Given the description of an element on the screen output the (x, y) to click on. 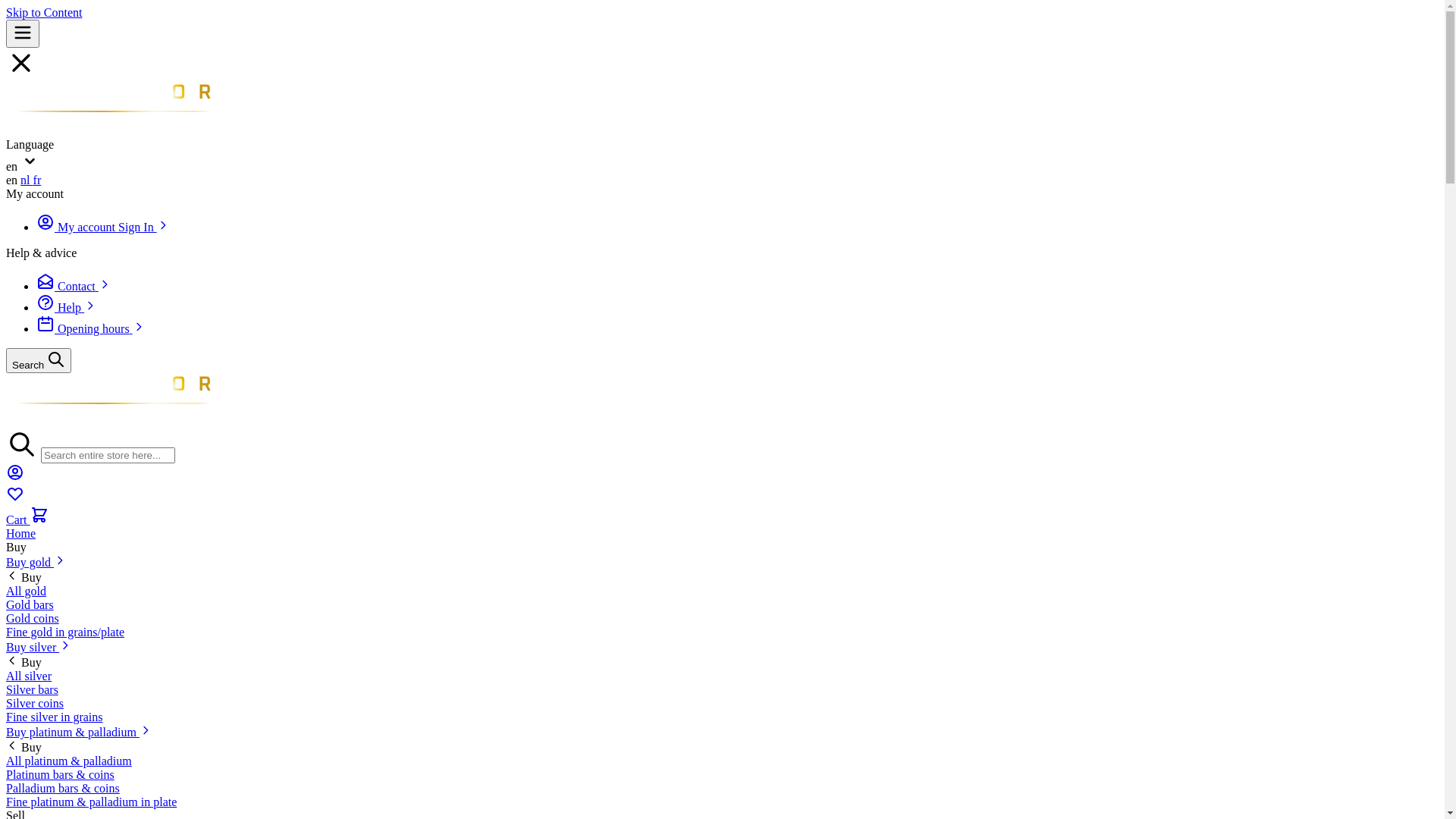
Home Element type: text (20, 533)
Platinum bars & coins Element type: text (60, 774)
Magento Commerce Element type: hover (112, 422)
All platinum & palladium Element type: text (68, 760)
fr Element type: text (37, 179)
Fine gold in grains/plate Element type: text (65, 631)
Palladium bars & coins Element type: text (62, 787)
Gold bars Element type: text (29, 604)
All gold Element type: text (26, 590)
Silver coins Element type: text (34, 702)
Buy platinum & palladium Element type: text (78, 731)
Contact Element type: text (73, 285)
Magento Commerce Element type: hover (112, 399)
Fine silver in grains Element type: text (54, 716)
Buy gold Element type: text (35, 561)
Gold coins Element type: text (32, 617)
All silver Element type: text (28, 675)
Magento Commerce Element type: hover (112, 130)
Fine platinum & palladium in plate Element type: text (91, 801)
nl Element type: text (26, 179)
Help Element type: text (66, 307)
Search Element type: text (38, 360)
My account Sign In Element type: text (102, 226)
Magento Commerce Element type: hover (112, 107)
Cart Element type: text (27, 519)
Skip to Content Element type: text (43, 12)
Buy silver Element type: text (38, 646)
Opening hours Element type: text (90, 328)
Silver bars Element type: text (32, 689)
